Given the description of an element on the screen output the (x, y) to click on. 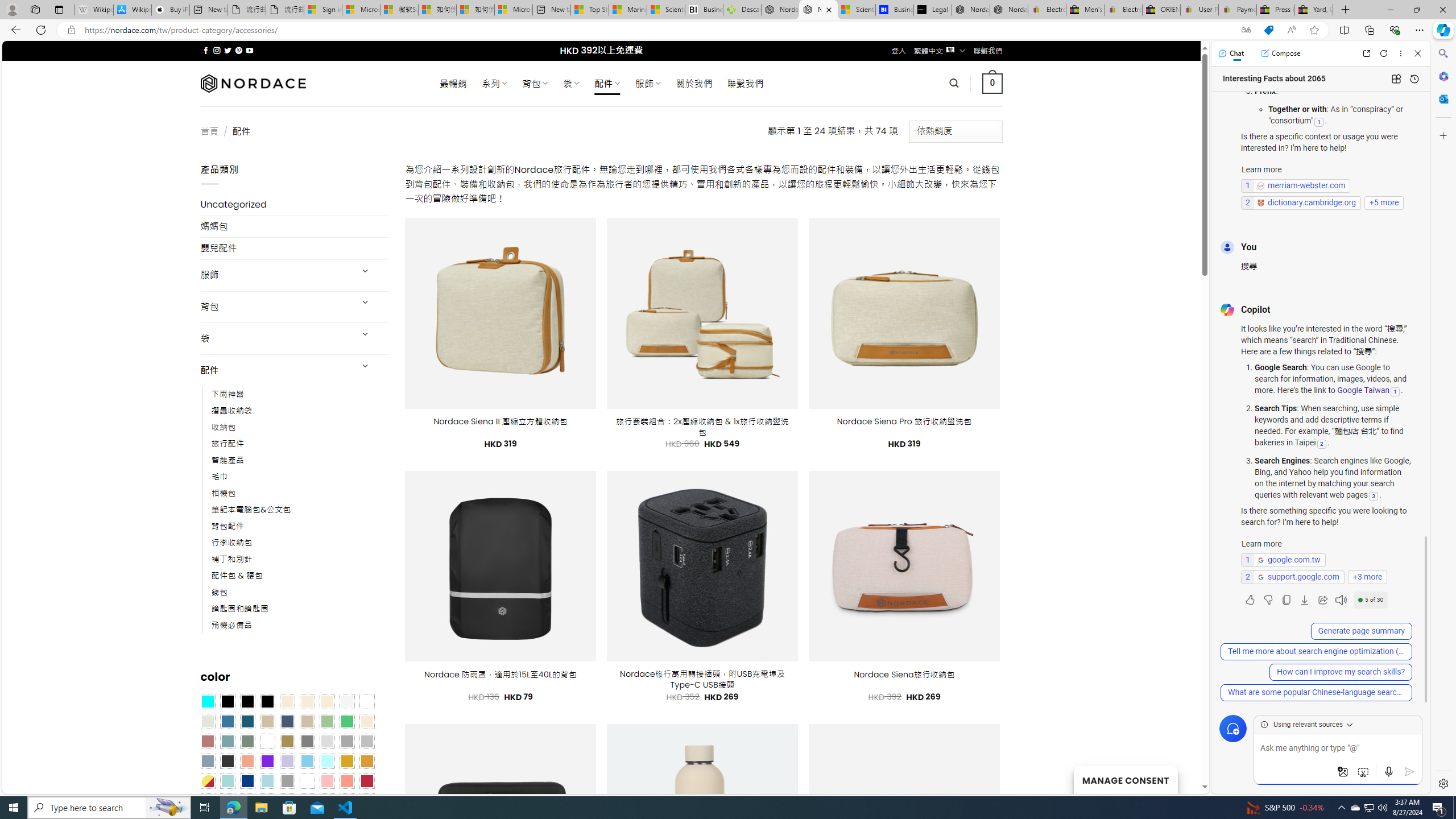
Cream (327, 701)
This site has coupons! Shopping in Microsoft Edge (1268, 29)
Press Room - eBay Inc. (1276, 9)
